Given the description of an element on the screen output the (x, y) to click on. 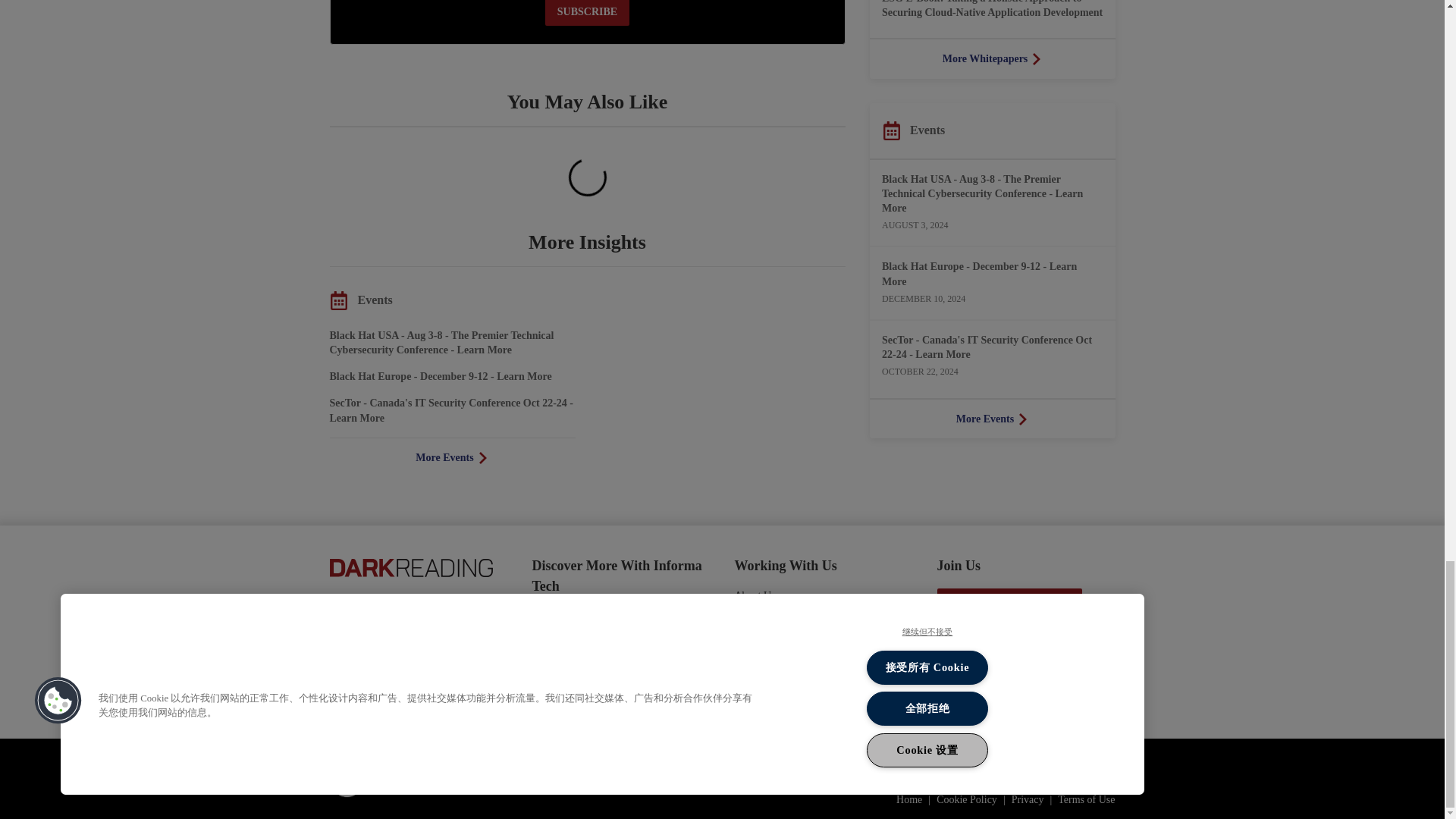
Logo (410, 566)
Informa Tech (404, 778)
